Given the description of an element on the screen output the (x, y) to click on. 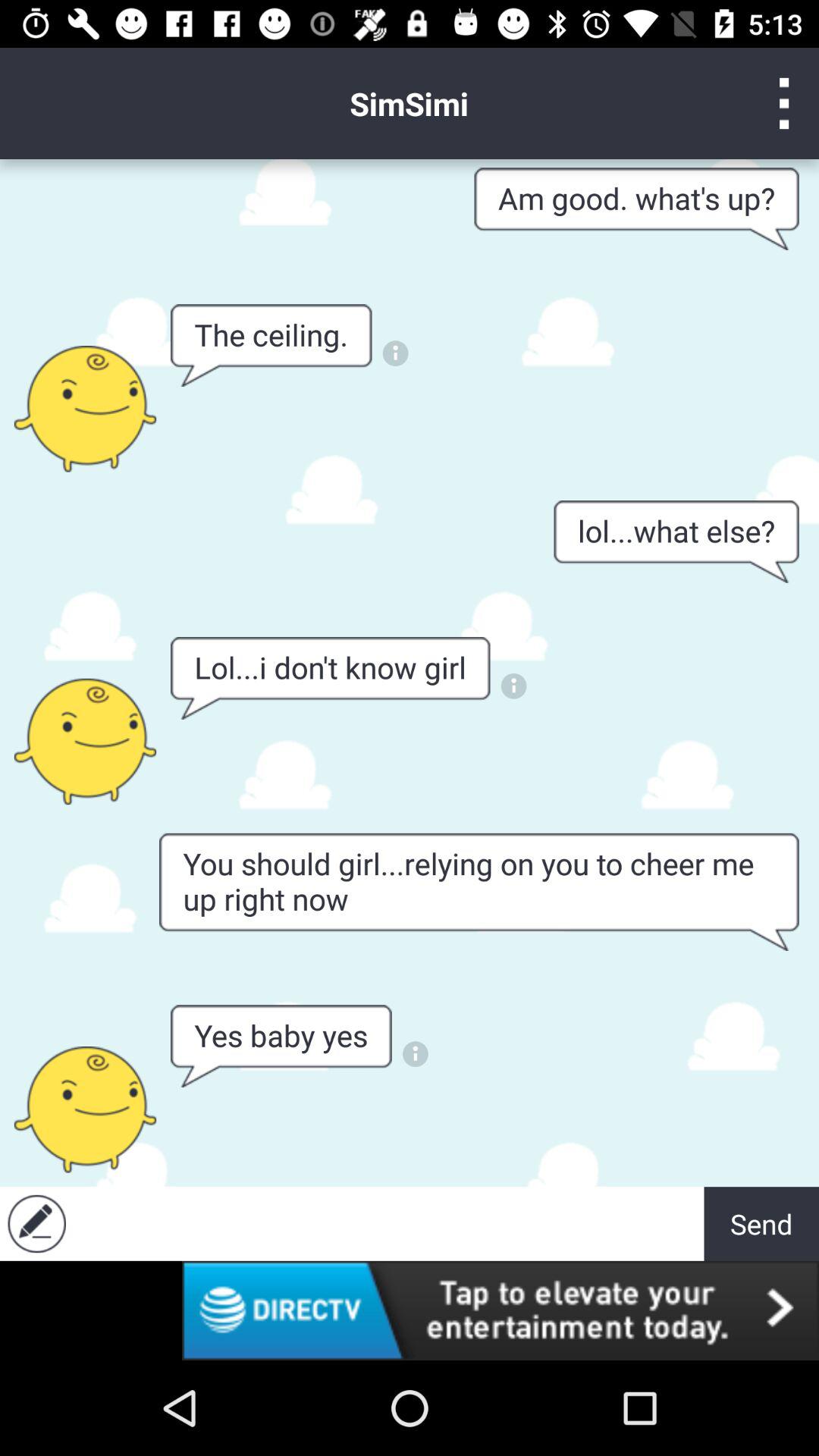
information (415, 1054)
